Given the description of an element on the screen output the (x, y) to click on. 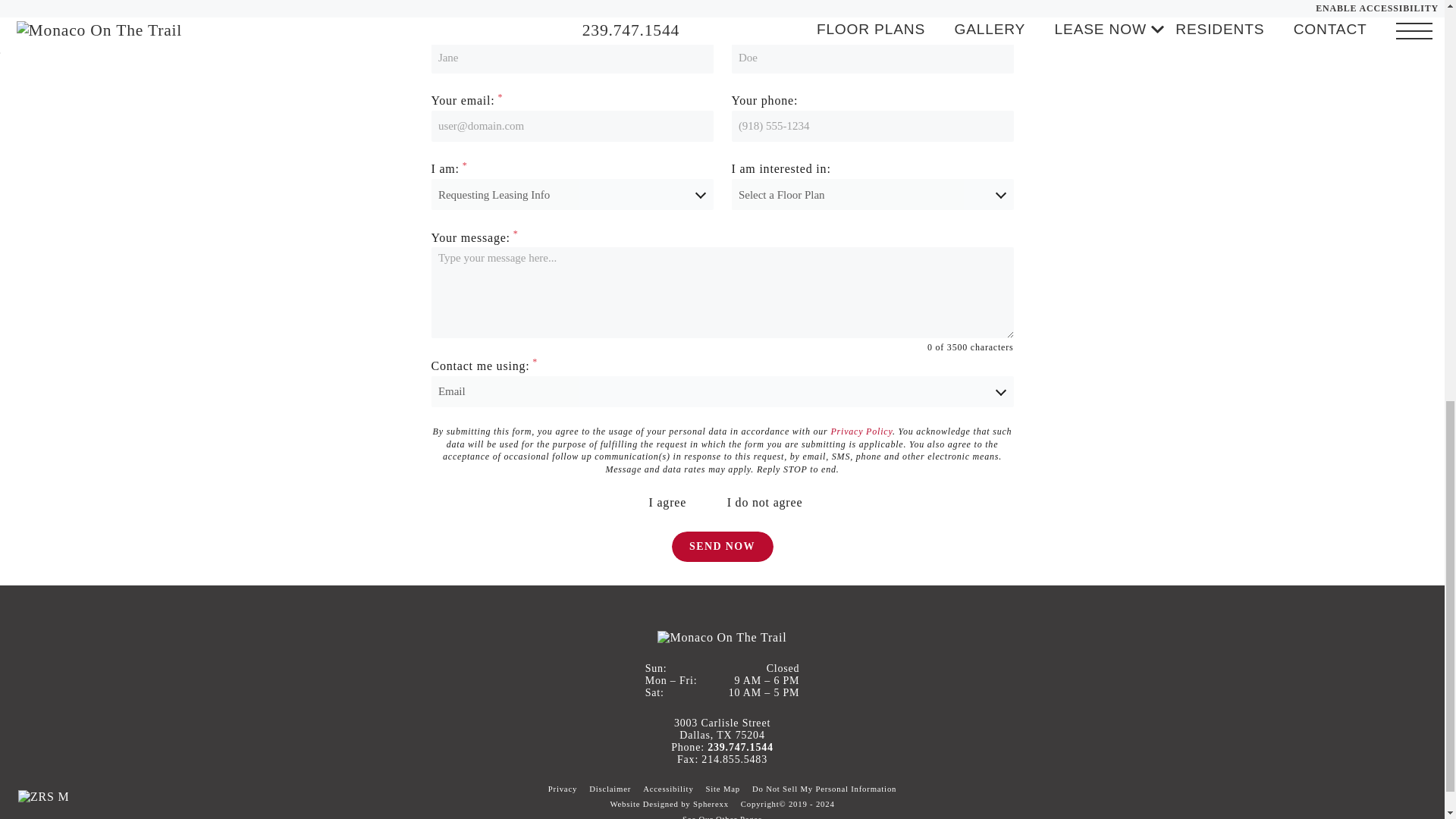
Visit us on Facebook (1331, 796)
International Symbol of Access (126, 799)
Equal Housing Opportunity (99, 799)
Visit us on Google (1362, 796)
Visit us on Instagram (1393, 796)
unchecked (636, 503)
unchecked (713, 503)
